Given the description of an element on the screen output the (x, y) to click on. 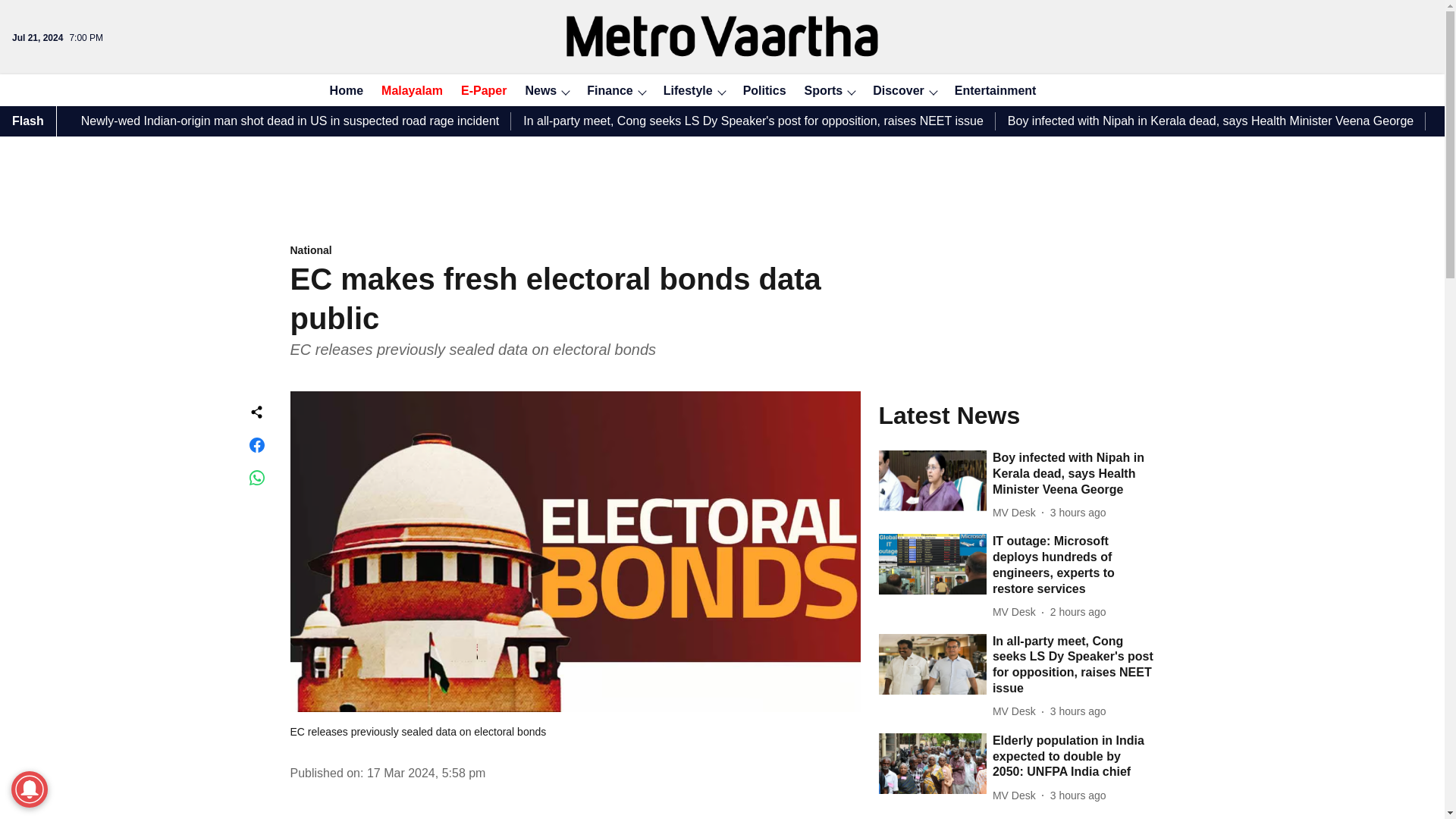
Discover (893, 91)
Dark Mode (1110, 89)
MV Desk (1017, 512)
E-Paper (478, 91)
Home (341, 91)
MV Desk (1017, 611)
Entertainment (990, 91)
Sports (818, 91)
Finance (604, 91)
2024-03-17 09:58 (426, 772)
Politics (759, 91)
2024-07-21 08:13 (1077, 711)
Lifestyle (683, 91)
